Given the description of an element on the screen output the (x, y) to click on. 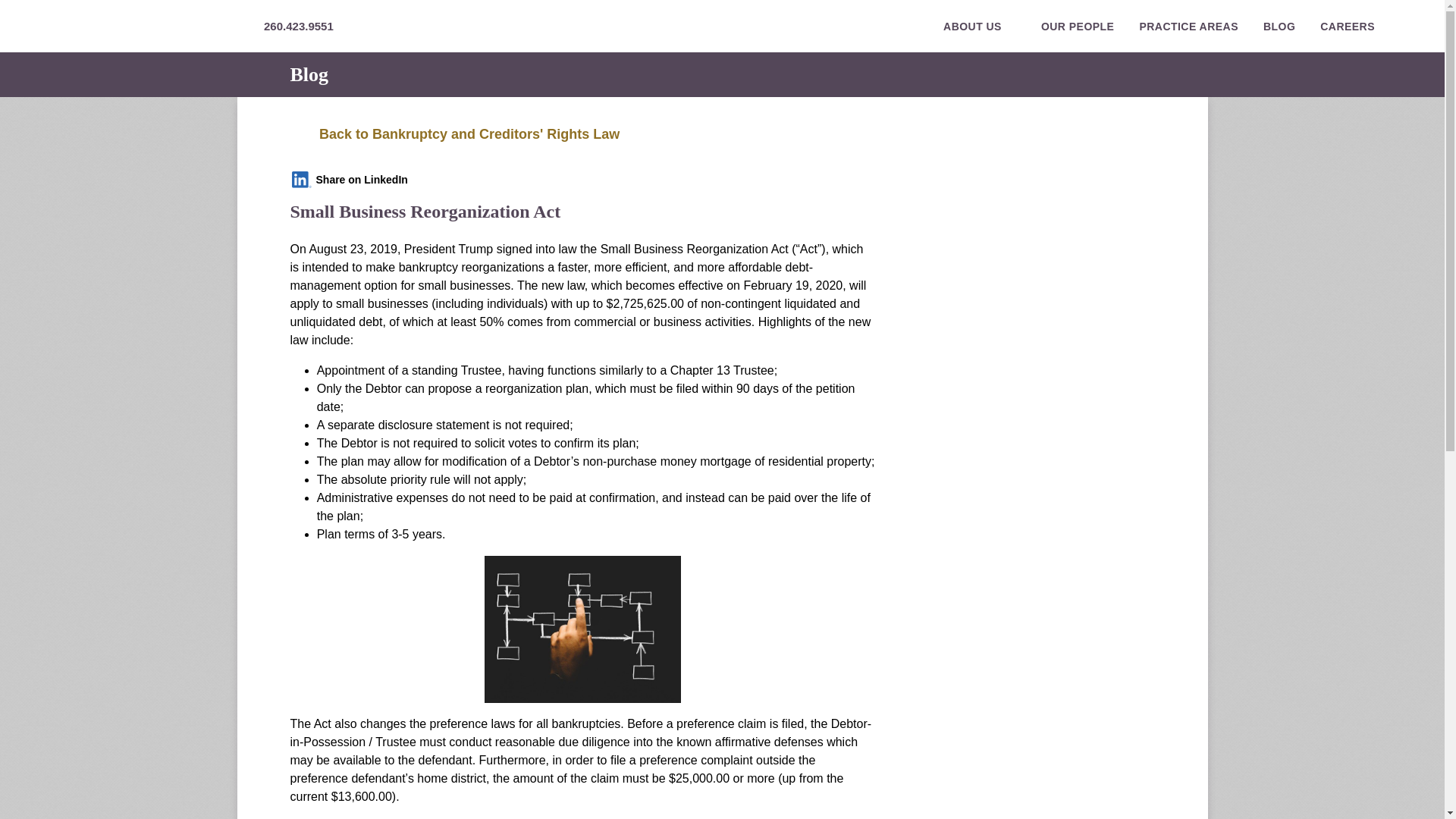
ABOUT USDOWN ARROW (979, 26)
DOWN ARROW (1383, 26)
DOWN ARROW (1011, 26)
BLOG (1279, 26)
260.423.9551 (298, 26)
PRACTICE AREAS (1188, 26)
CAREERSDOWN ARROW (1354, 26)
arrow left (298, 135)
OUR PEOPLE (1078, 26)
